Given the description of an element on the screen output the (x, y) to click on. 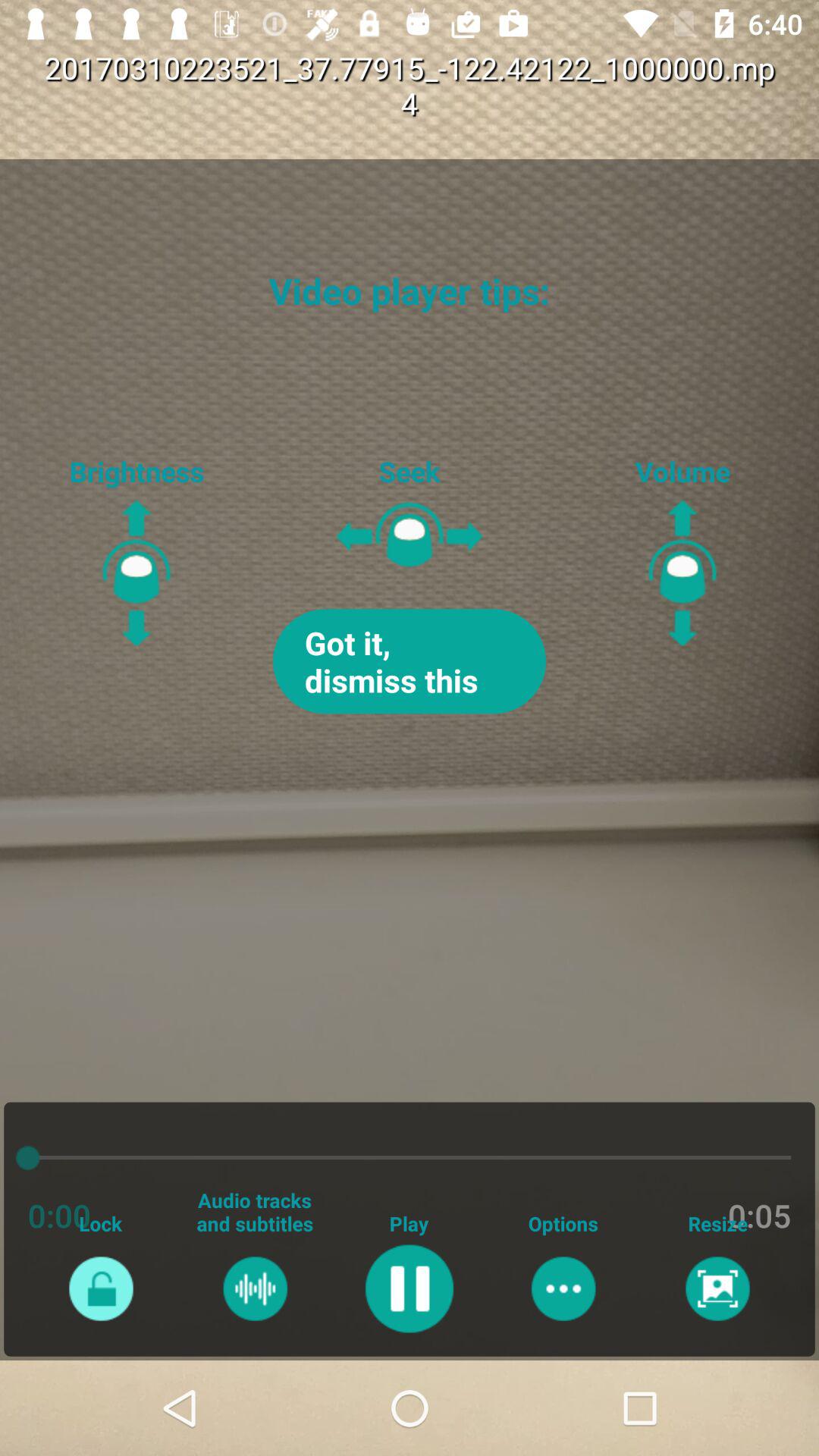
select the icon next to volume icon (409, 661)
